Given the description of an element on the screen output the (x, y) to click on. 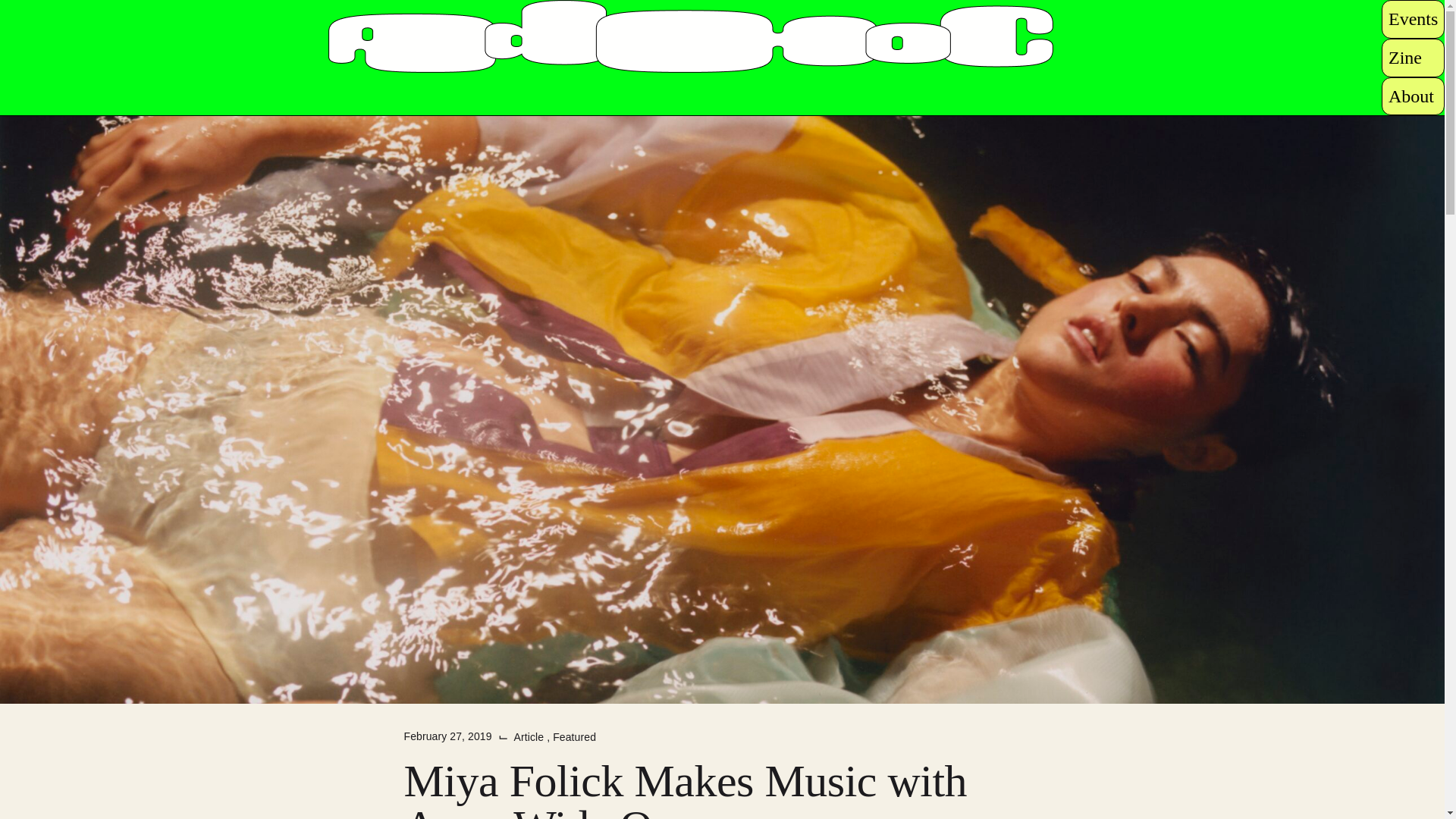
Article (530, 736)
Featured (574, 736)
February 27, 2019 (447, 736)
